Given the description of an element on the screen output the (x, y) to click on. 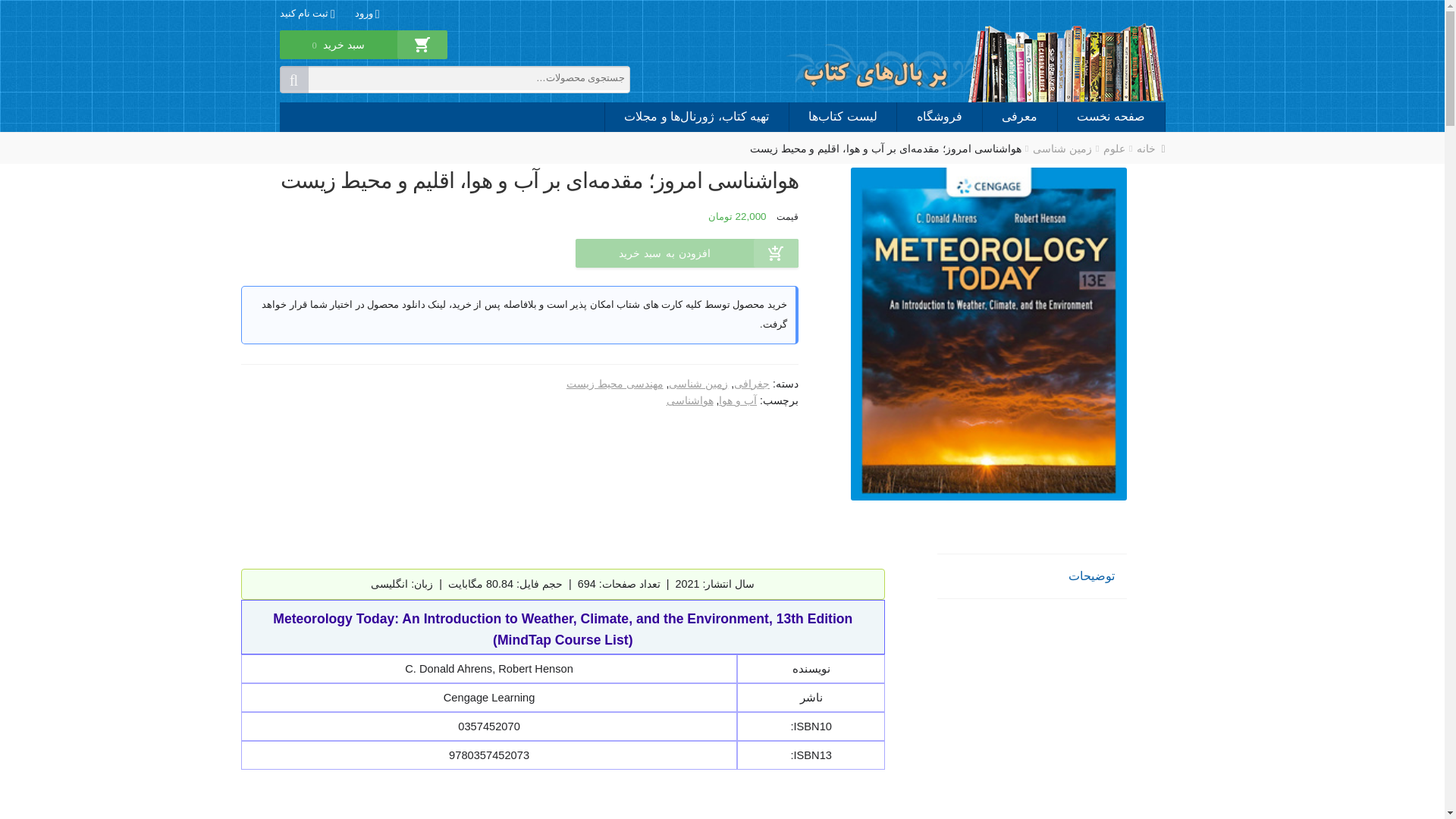
View your shopping cart (339, 54)
